Given the description of an element on the screen output the (x, y) to click on. 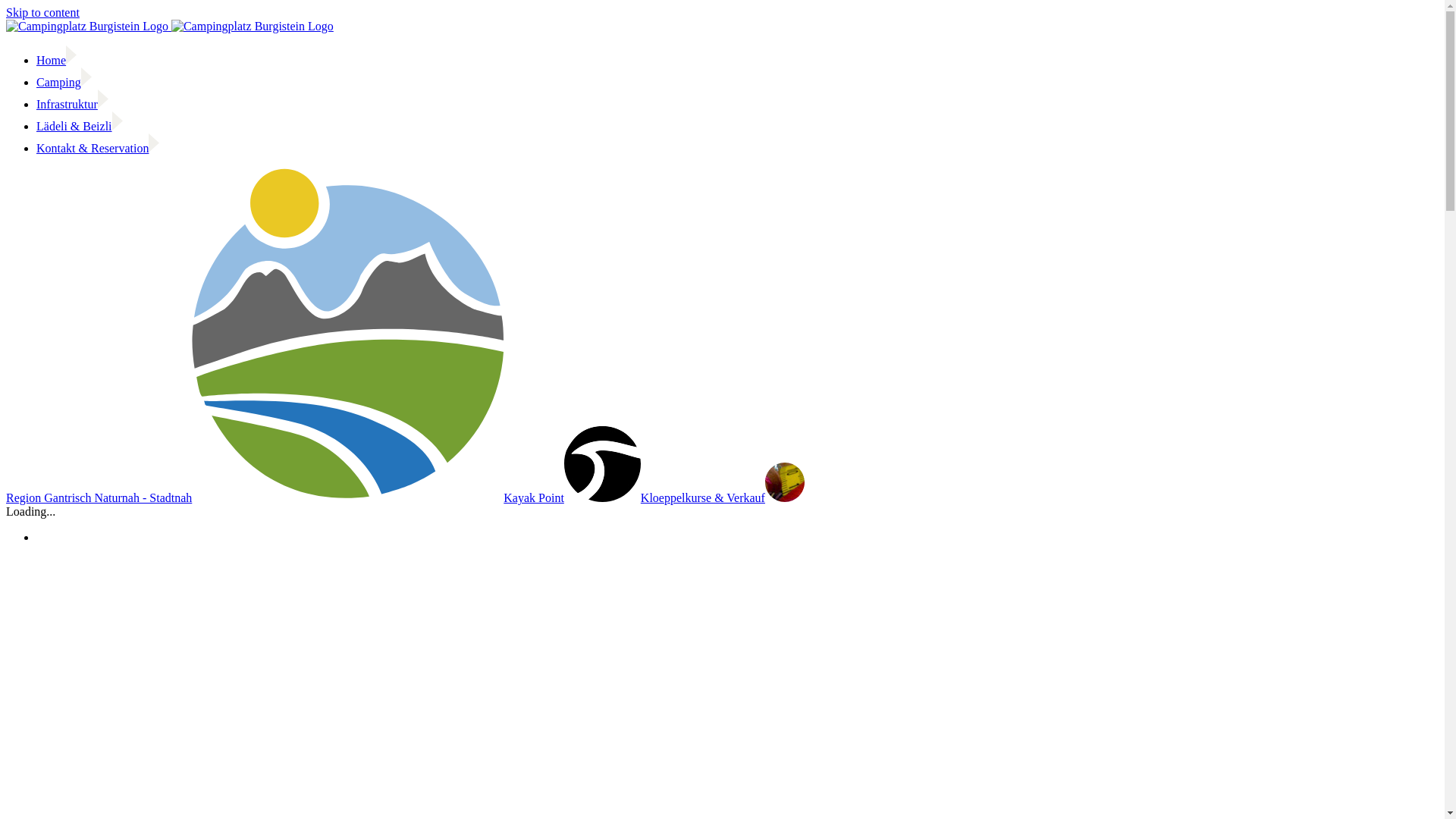
Skip to content Element type: text (42, 12)
Camping Element type: text (63, 81)
Infrastruktur Element type: text (72, 103)
Kloeppelkurse & Verkauf Element type: text (722, 497)
Kayak Point Element type: text (571, 497)
Region Gantrisch Naturnah - Stadtnah Element type: text (254, 497)
Home Element type: text (56, 59)
Kontakt & Reservation Element type: text (97, 147)
